Given the description of an element on the screen output the (x, y) to click on. 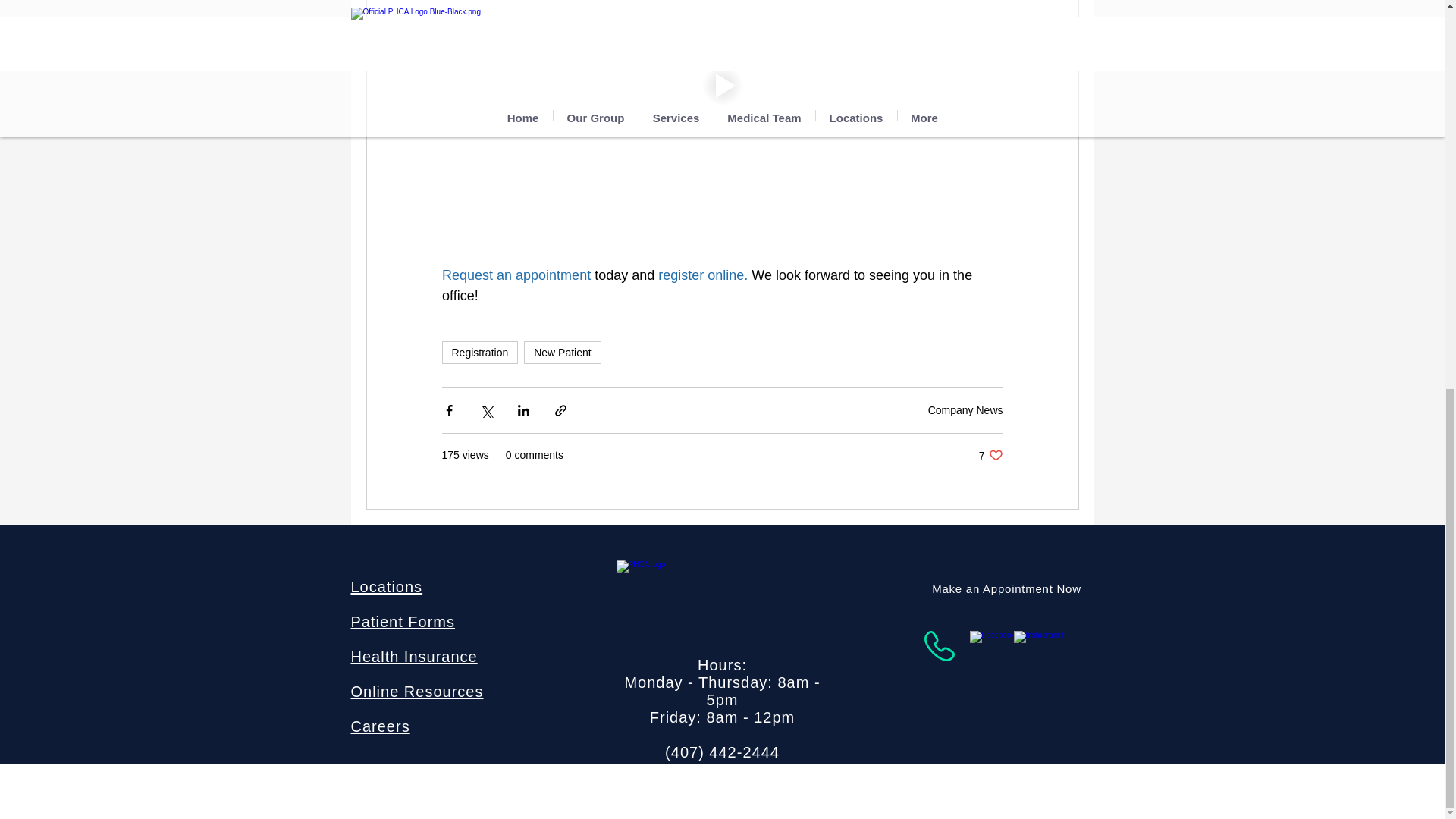
Locations (386, 586)
Request an appointment (515, 274)
Patient Forms (402, 621)
register online. (703, 274)
Registration (479, 352)
Company News (965, 410)
New Patient (561, 352)
